Given the description of an element on the screen output the (x, y) to click on. 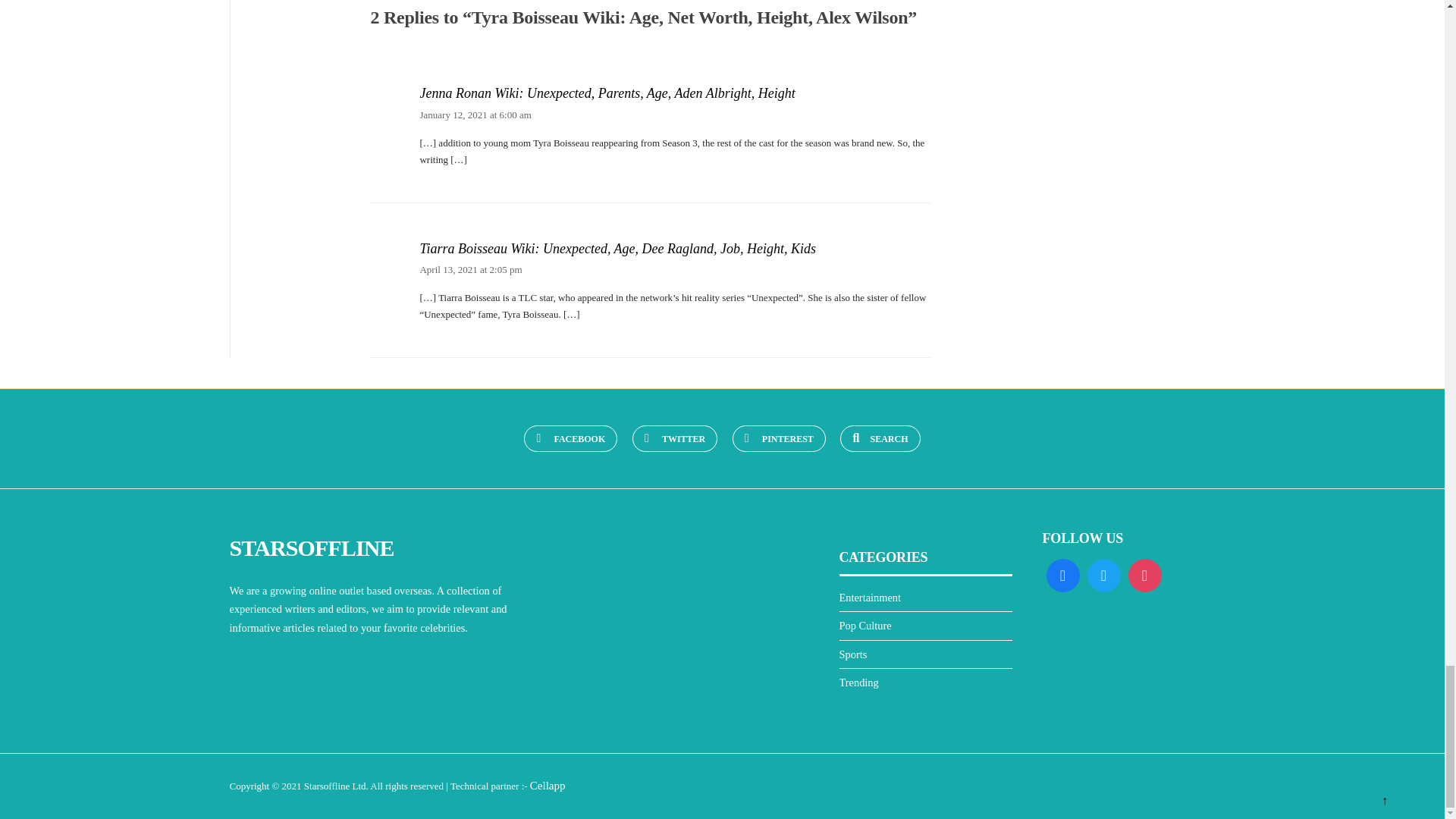
Pop Culture (864, 625)
January 12, 2021 at 6:00 am (475, 114)
TWITTER (674, 438)
Trending (857, 682)
Sports (852, 654)
SEARCH (880, 438)
Entertainment (869, 597)
FACEBOOK (570, 438)
Pinterest (778, 438)
